Given the description of an element on the screen output the (x, y) to click on. 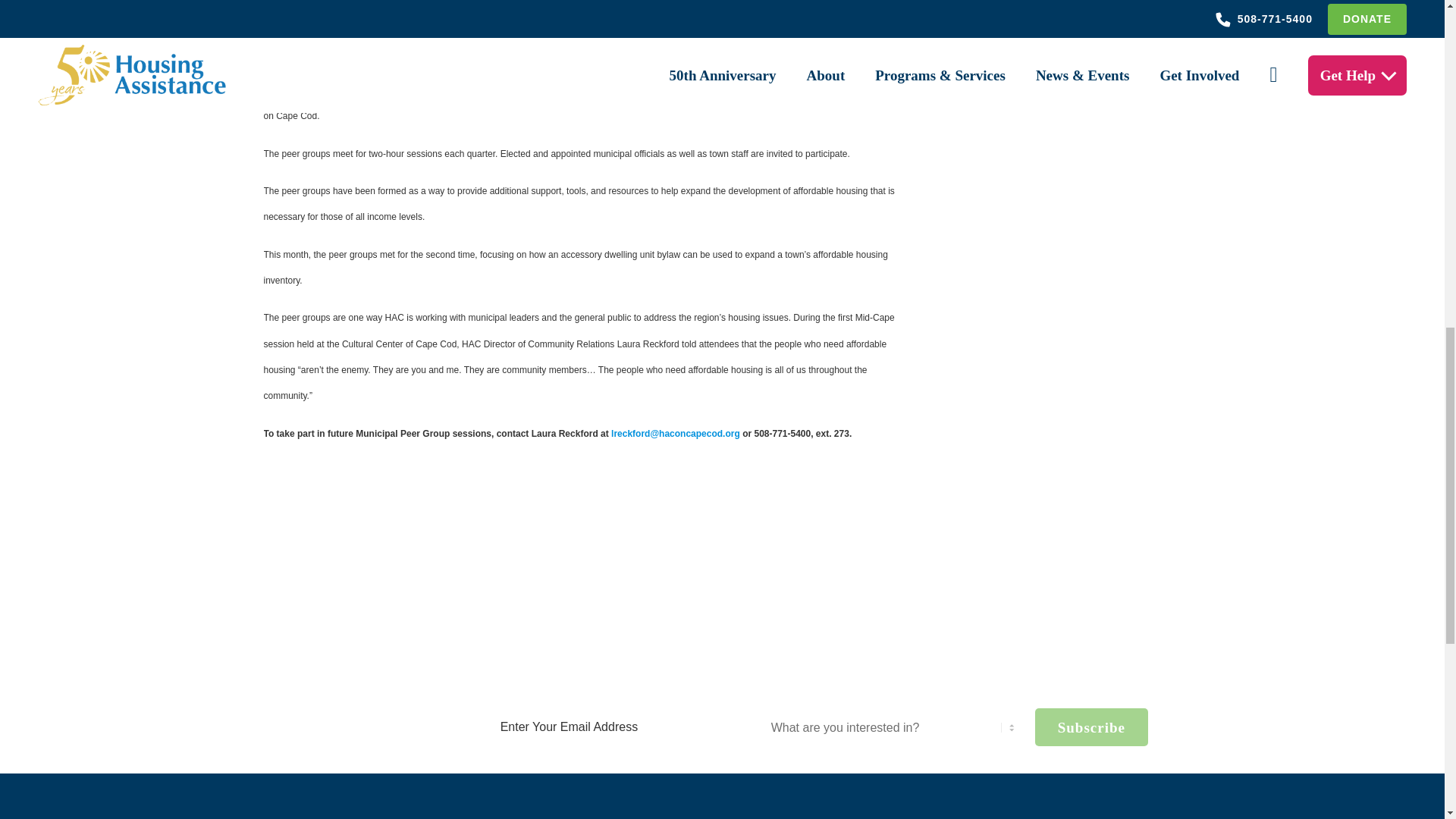
Subscribe (1091, 727)
